Given the description of an element on the screen output the (x, y) to click on. 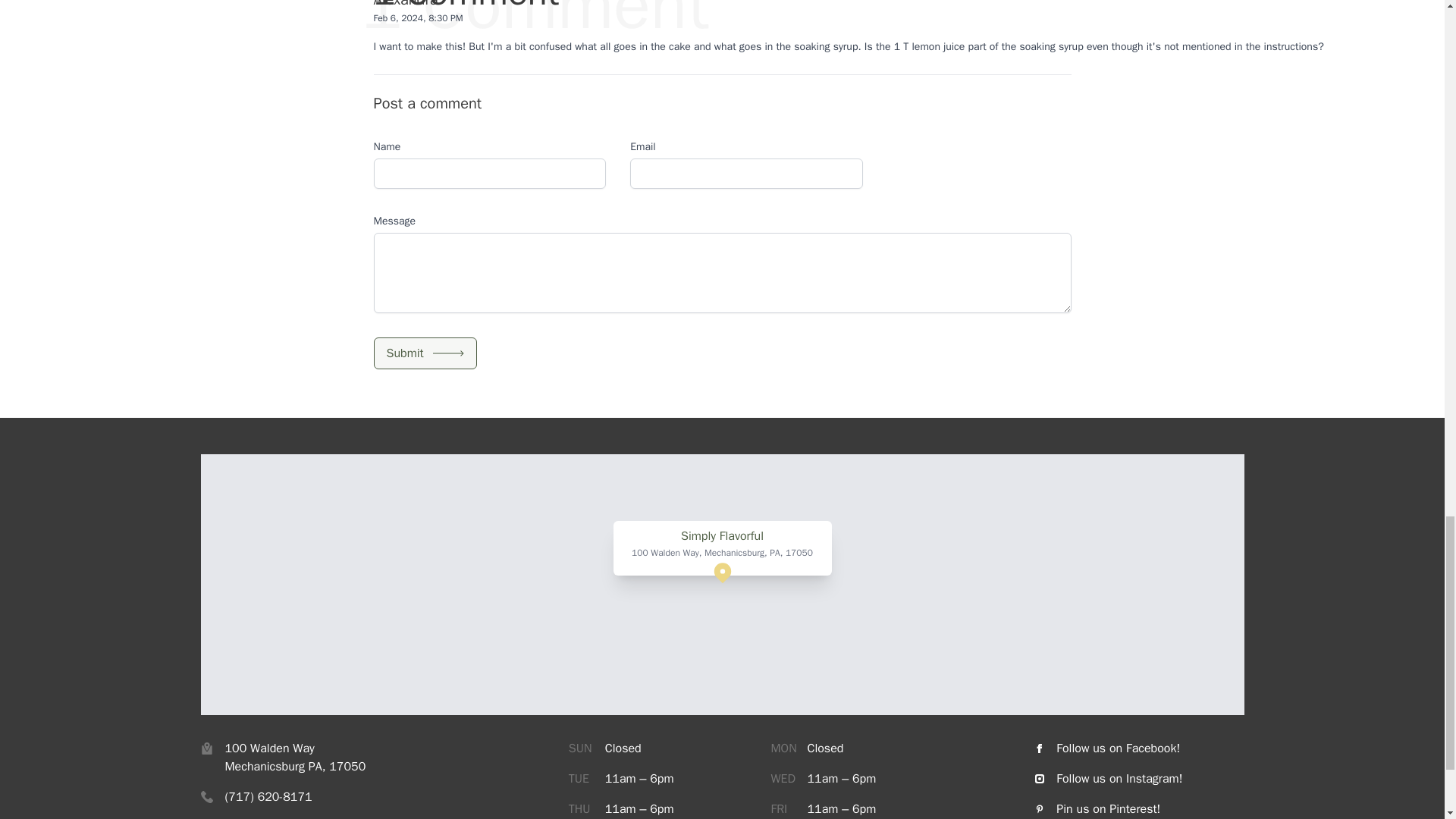
Submit (424, 353)
Follow us on Instagram! (1139, 778)
Pin us on Pinterest! (1139, 809)
Follow us on Facebook! (1139, 748)
